Given the description of an element on the screen output the (x, y) to click on. 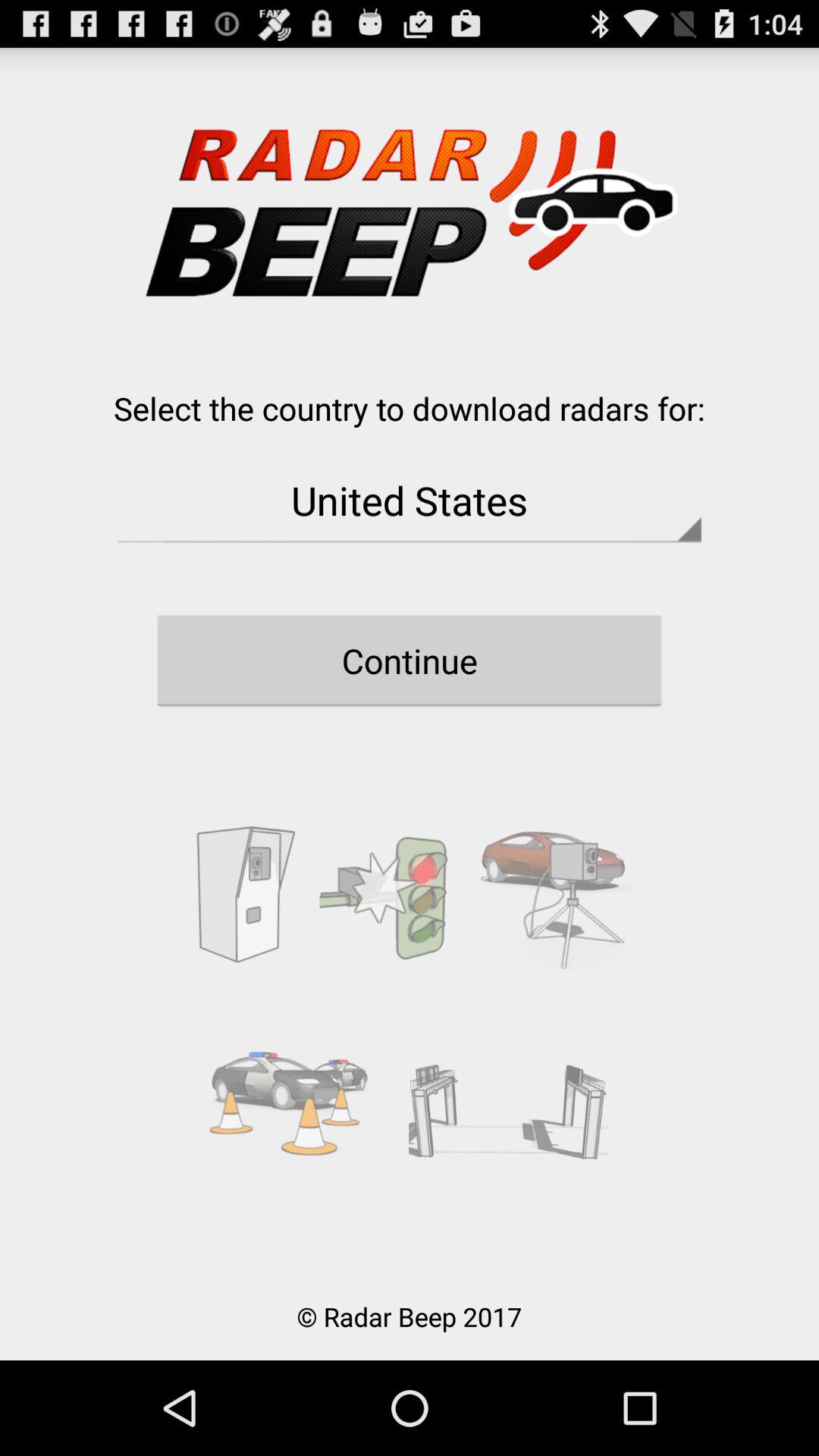
select item above continue button (409, 499)
